Given the description of an element on the screen output the (x, y) to click on. 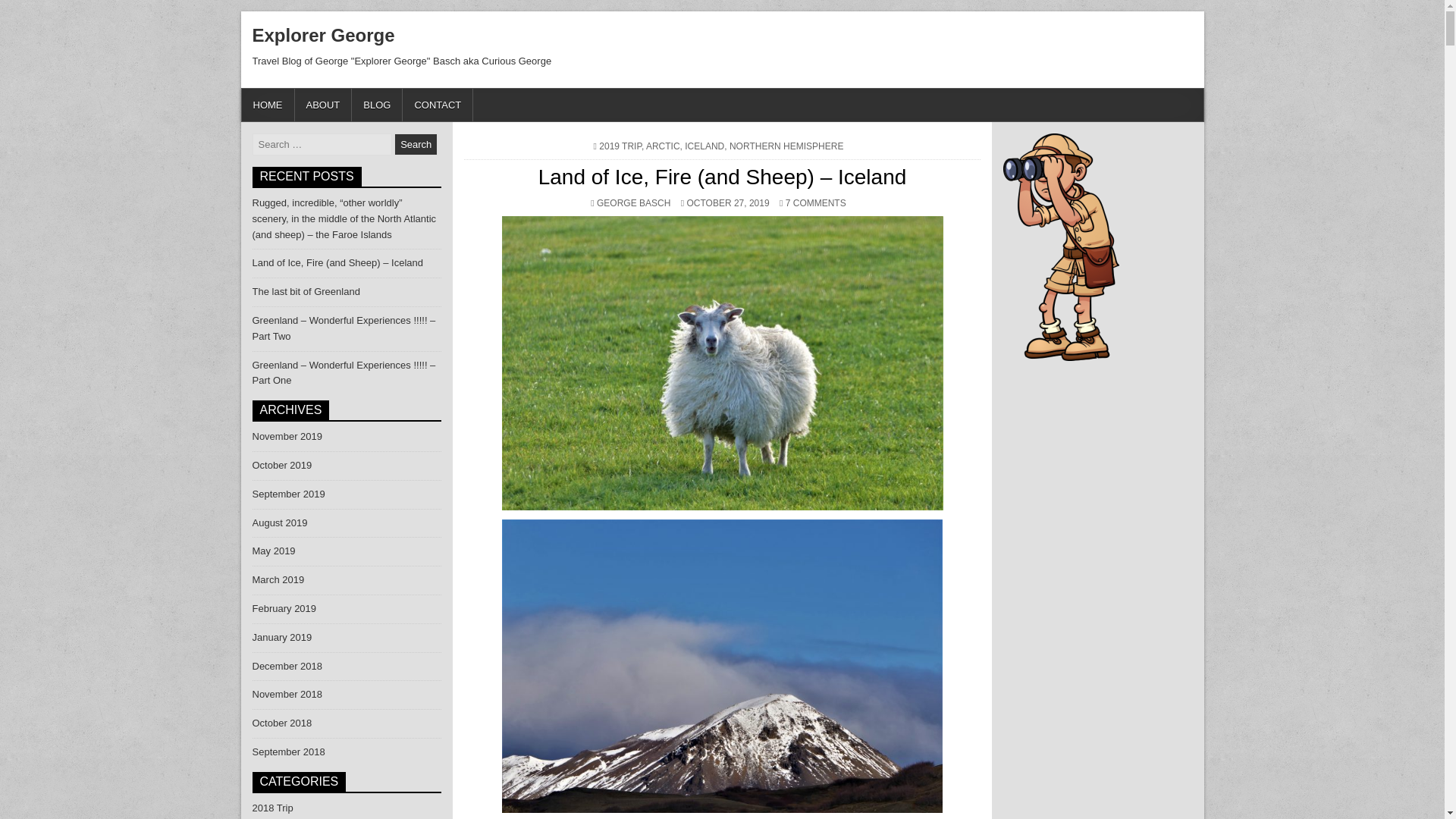
Search (416, 144)
HOME (267, 104)
Search (632, 203)
CONTACT (416, 144)
Explorer George (438, 104)
Search (322, 35)
ICELAND (416, 144)
BLOG (703, 145)
The last bit of Greenland (377, 104)
ABOUT (305, 291)
2019 TRIP (323, 104)
November 2019 (620, 145)
NORTHERN HEMISPHERE (286, 436)
ARCTIC (786, 145)
